Given the description of an element on the screen output the (x, y) to click on. 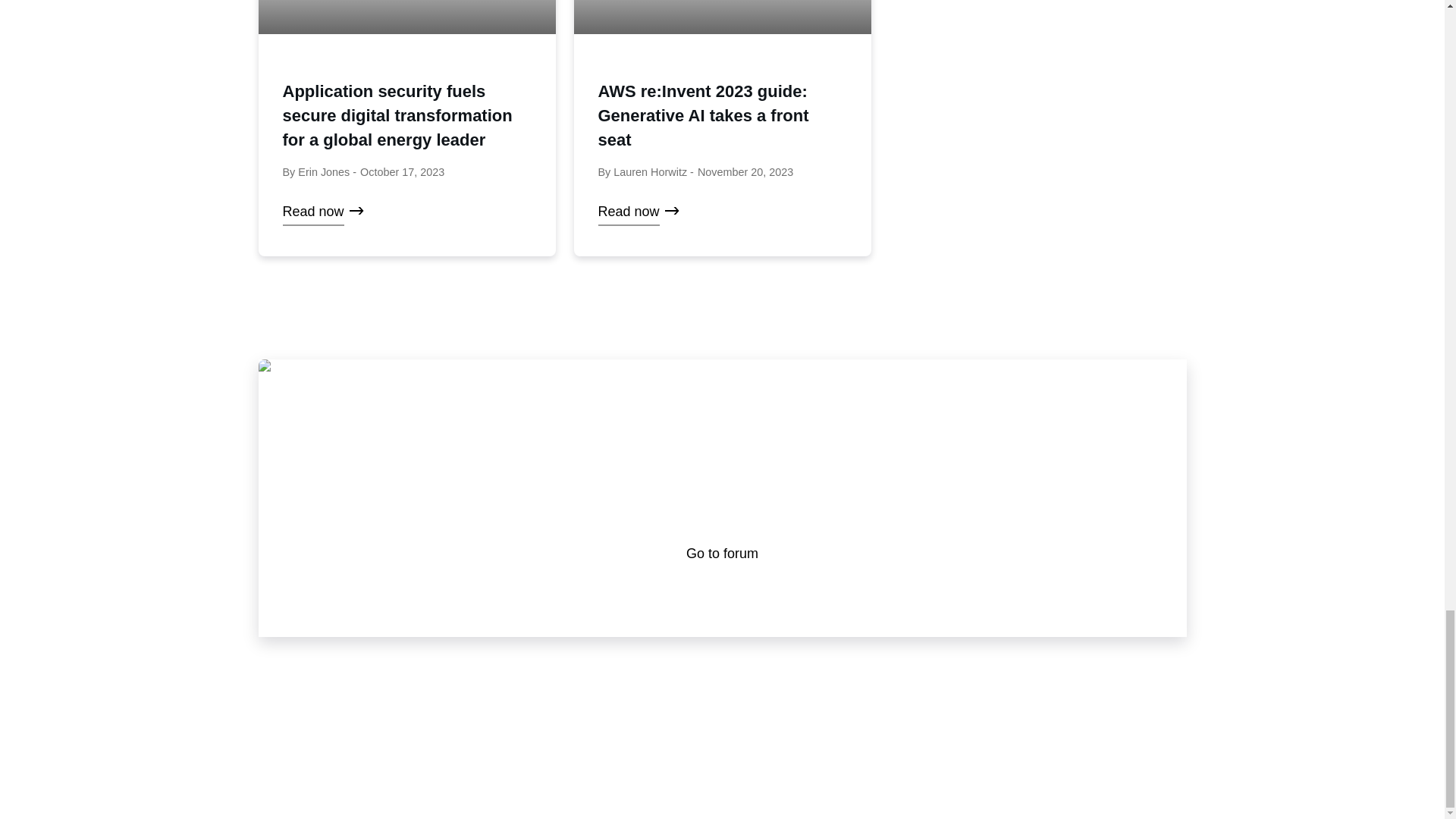
Go to forum (722, 553)
